Given the description of an element on the screen output the (x, y) to click on. 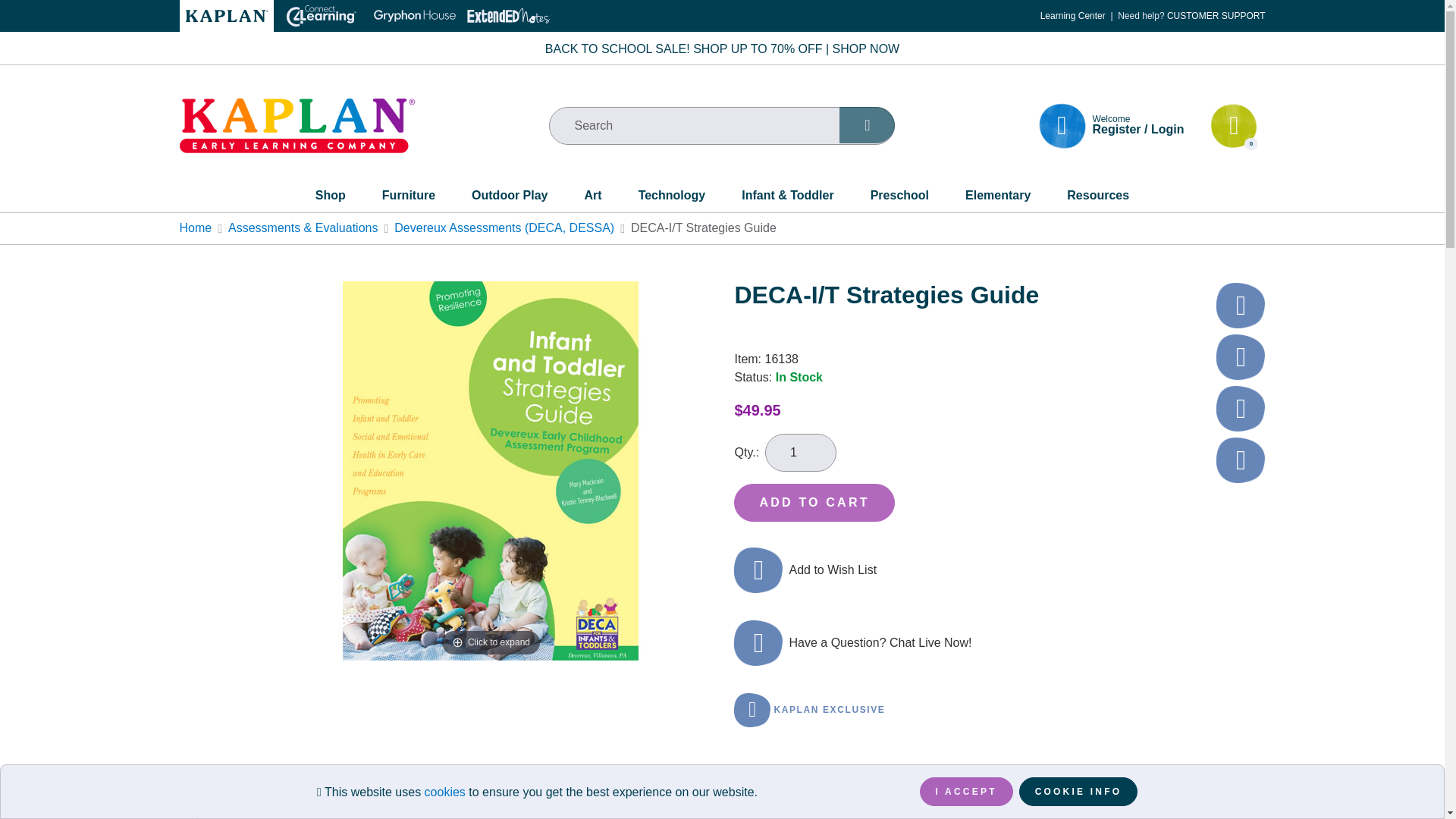
Share on Pinterest (1240, 356)
CUSTOMER SUPPORT (1216, 15)
1 (800, 452)
0 (1233, 126)
Shop (330, 199)
Learning Center (1073, 15)
